Given the description of an element on the screen output the (x, y) to click on. 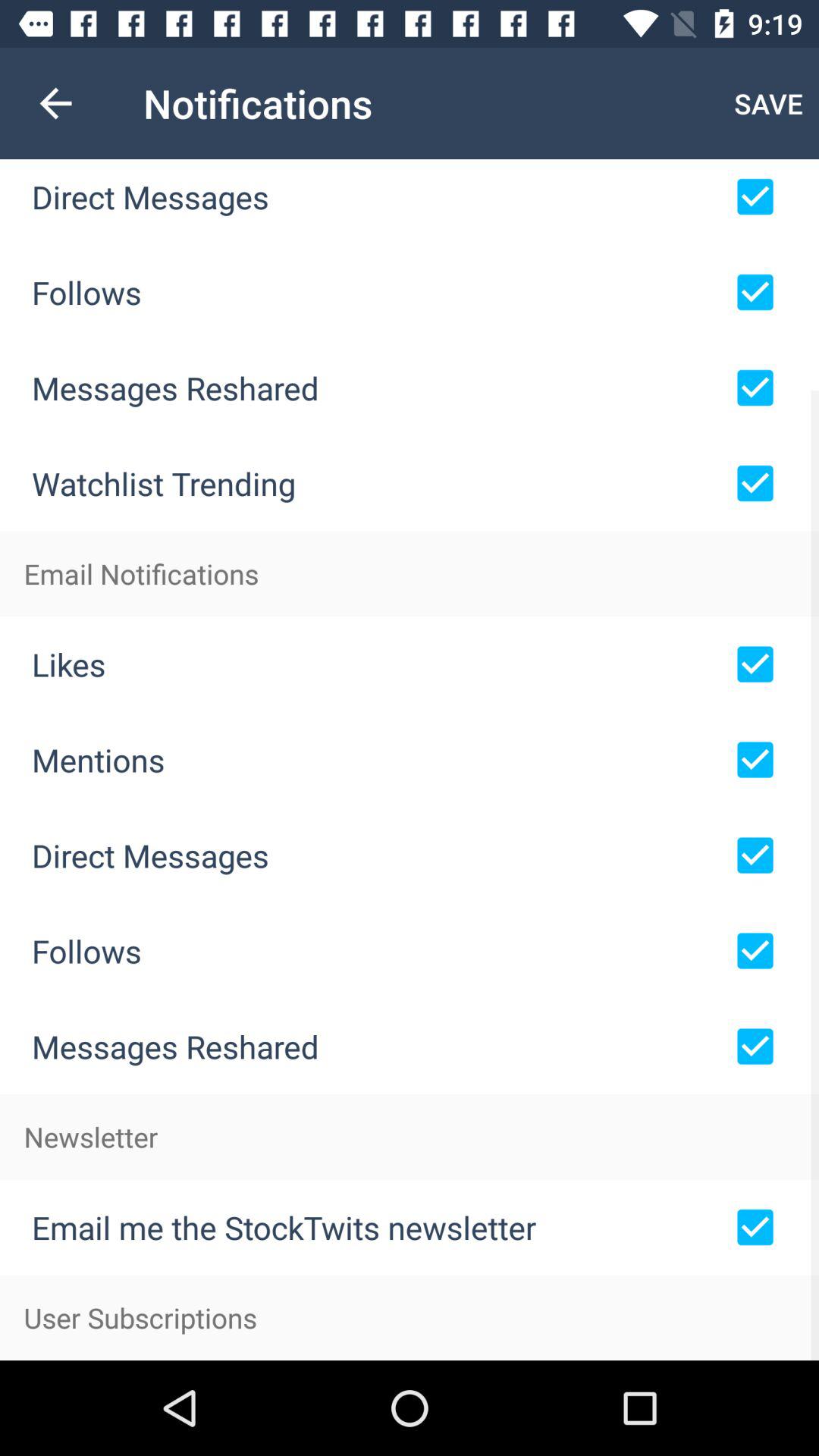
launch the item to the right of notifications (768, 103)
